Given the description of an element on the screen output the (x, y) to click on. 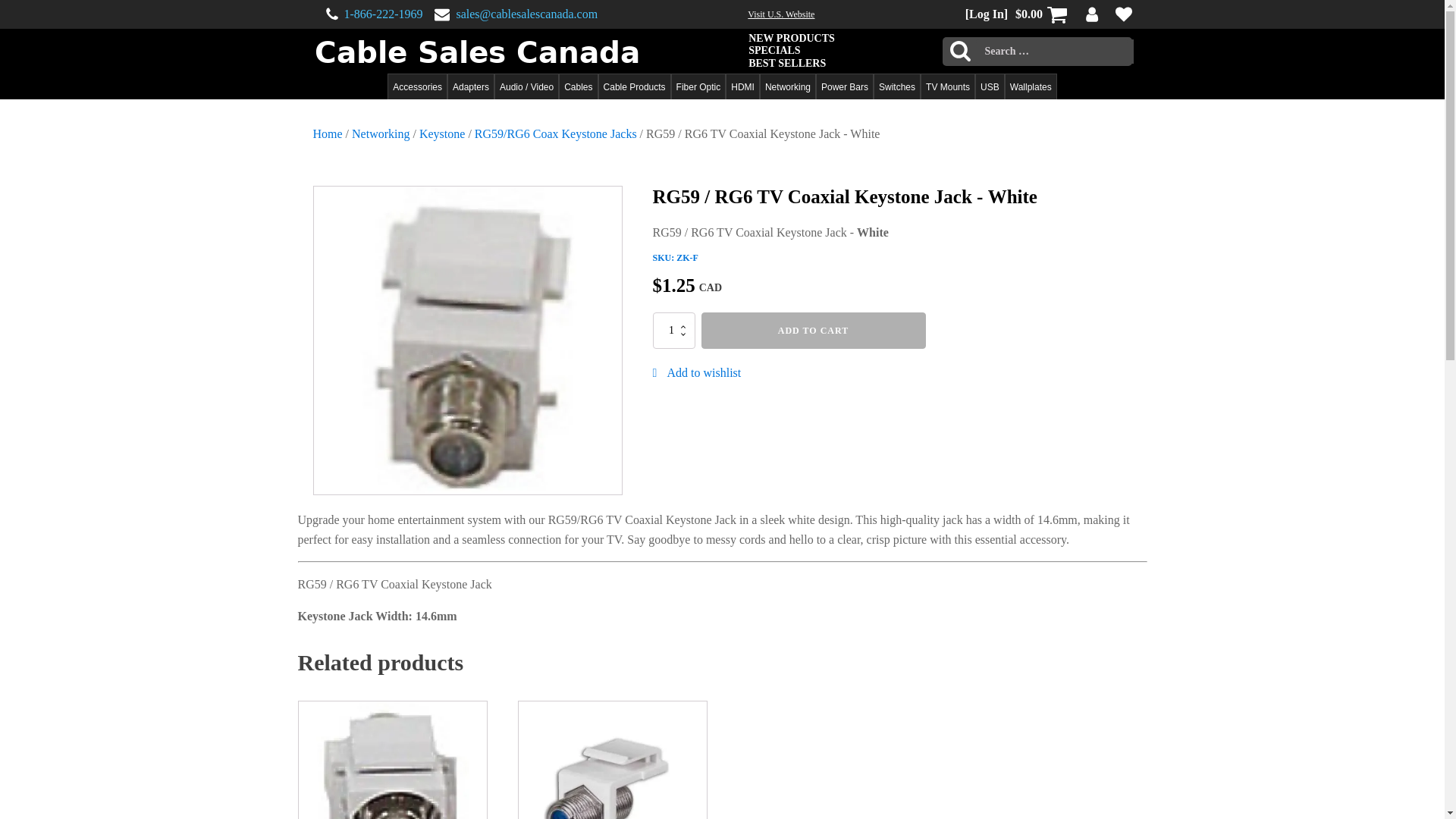
Visit U.S. Website (780, 14)
1 (673, 330)
Wishlist (1123, 13)
1-866-222-1969 (383, 14)
My account (1091, 14)
View Wishlist (1119, 13)
ZK-F-2.jpg (467, 340)
